Given the description of an element on the screen output the (x, y) to click on. 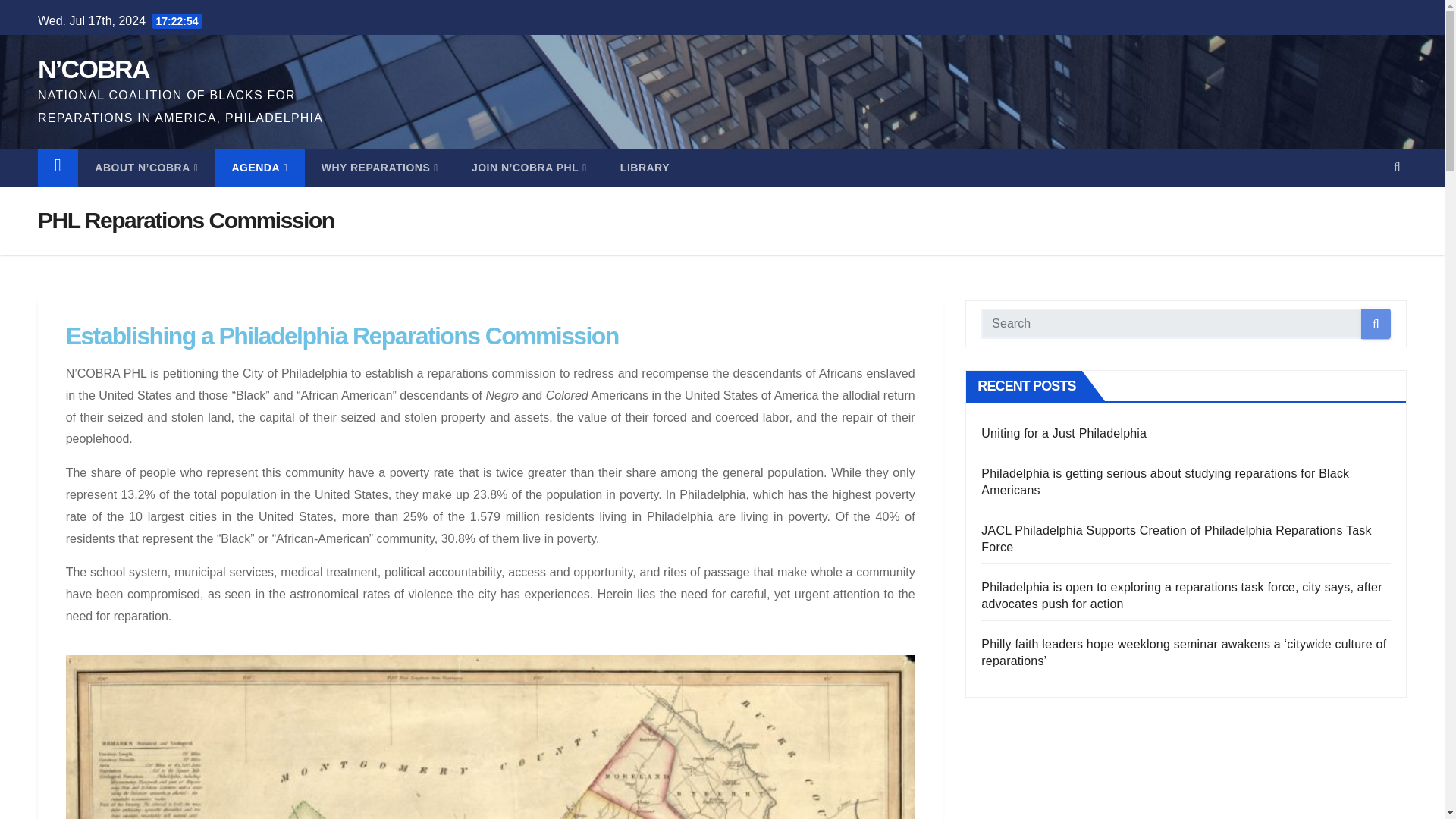
WHY REPARATIONS (379, 167)
AGENDA (259, 167)
LIBRARY (644, 167)
